Given the description of an element on the screen output the (x, y) to click on. 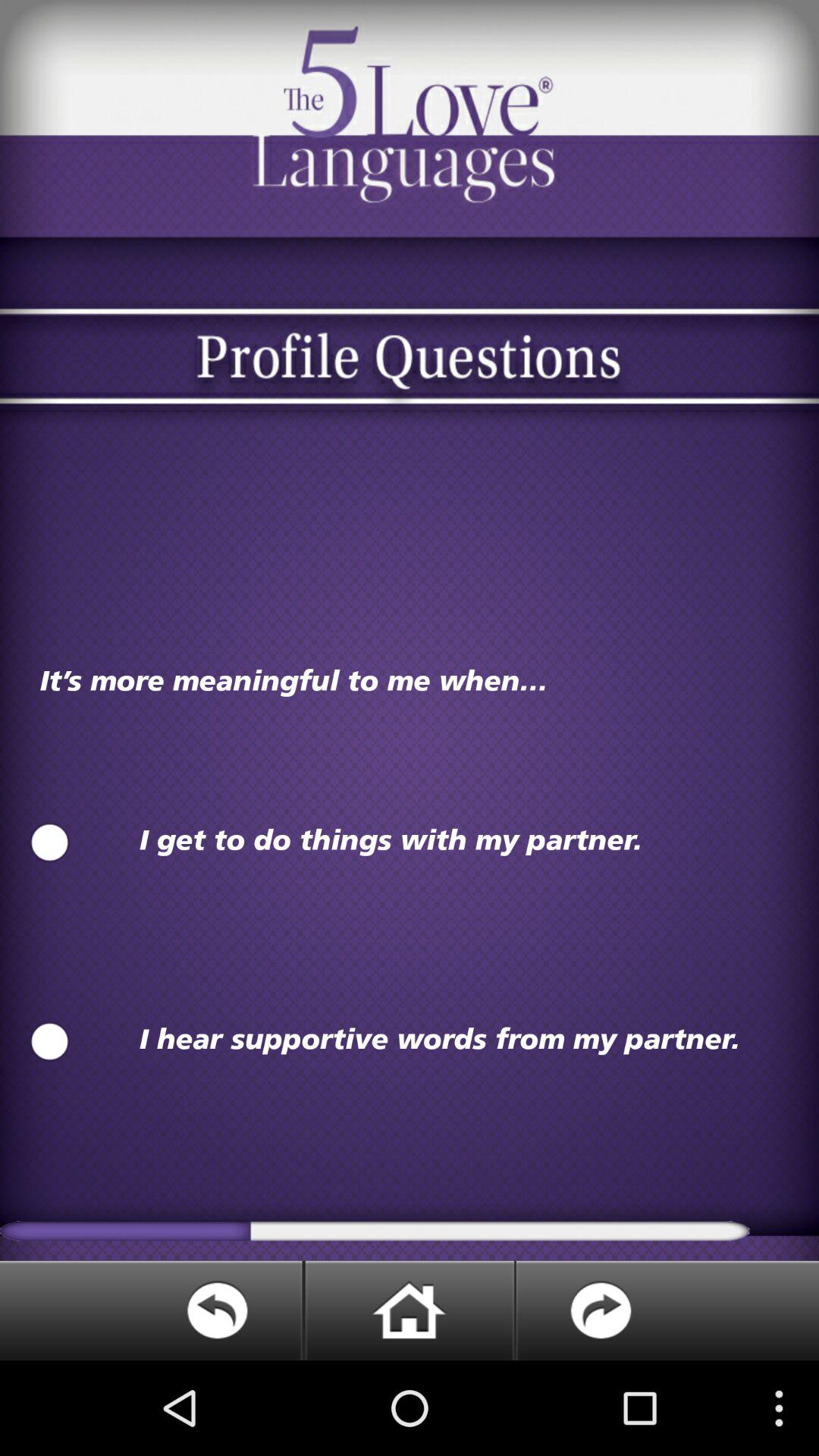
select option (49, 842)
